Given the description of an element on the screen output the (x, y) to click on. 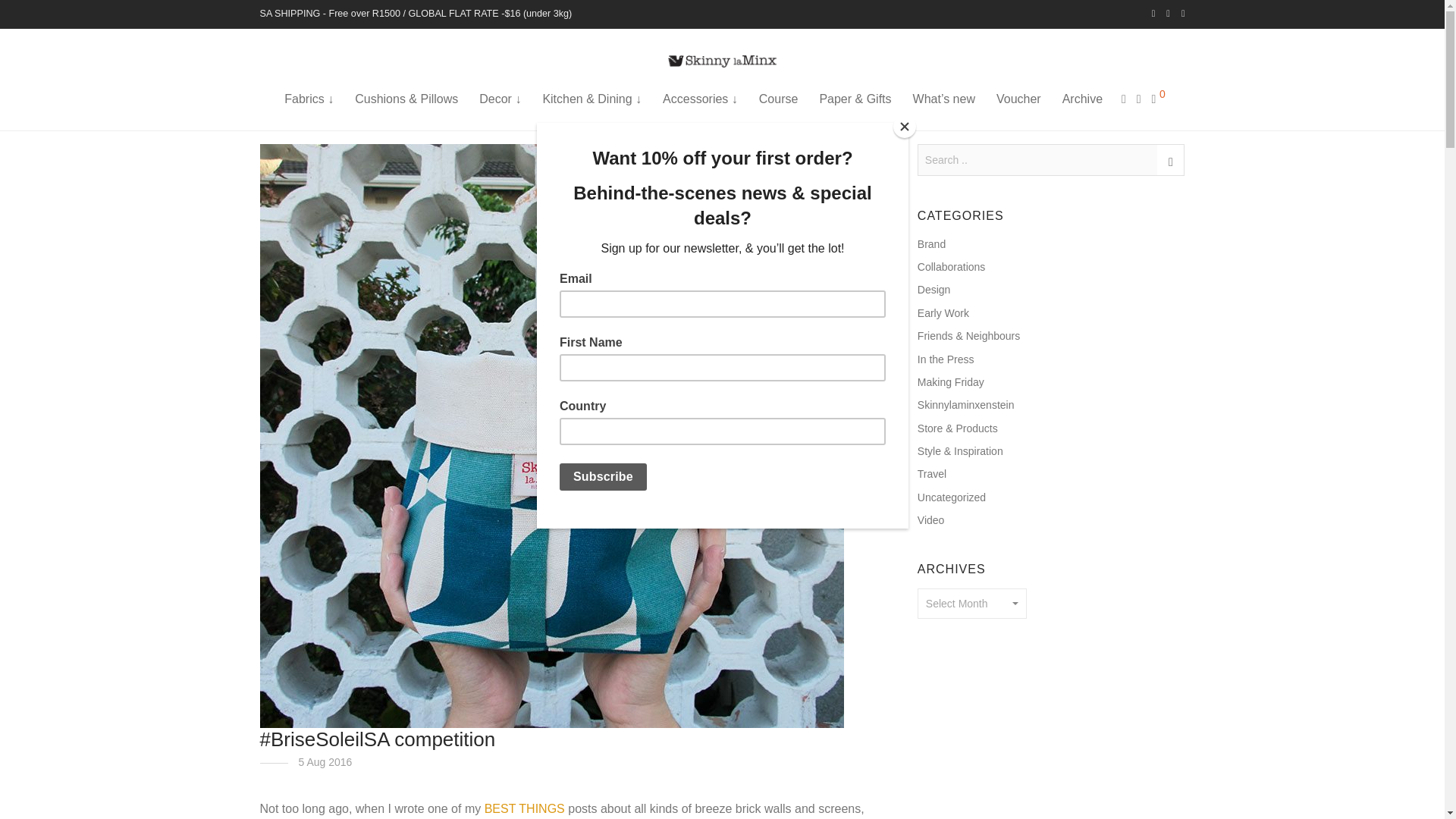
Voucher (1018, 99)
BEST THINGS (524, 808)
Course (778, 99)
0 (1158, 98)
Archive (1082, 99)
